Given the description of an element on the screen output the (x, y) to click on. 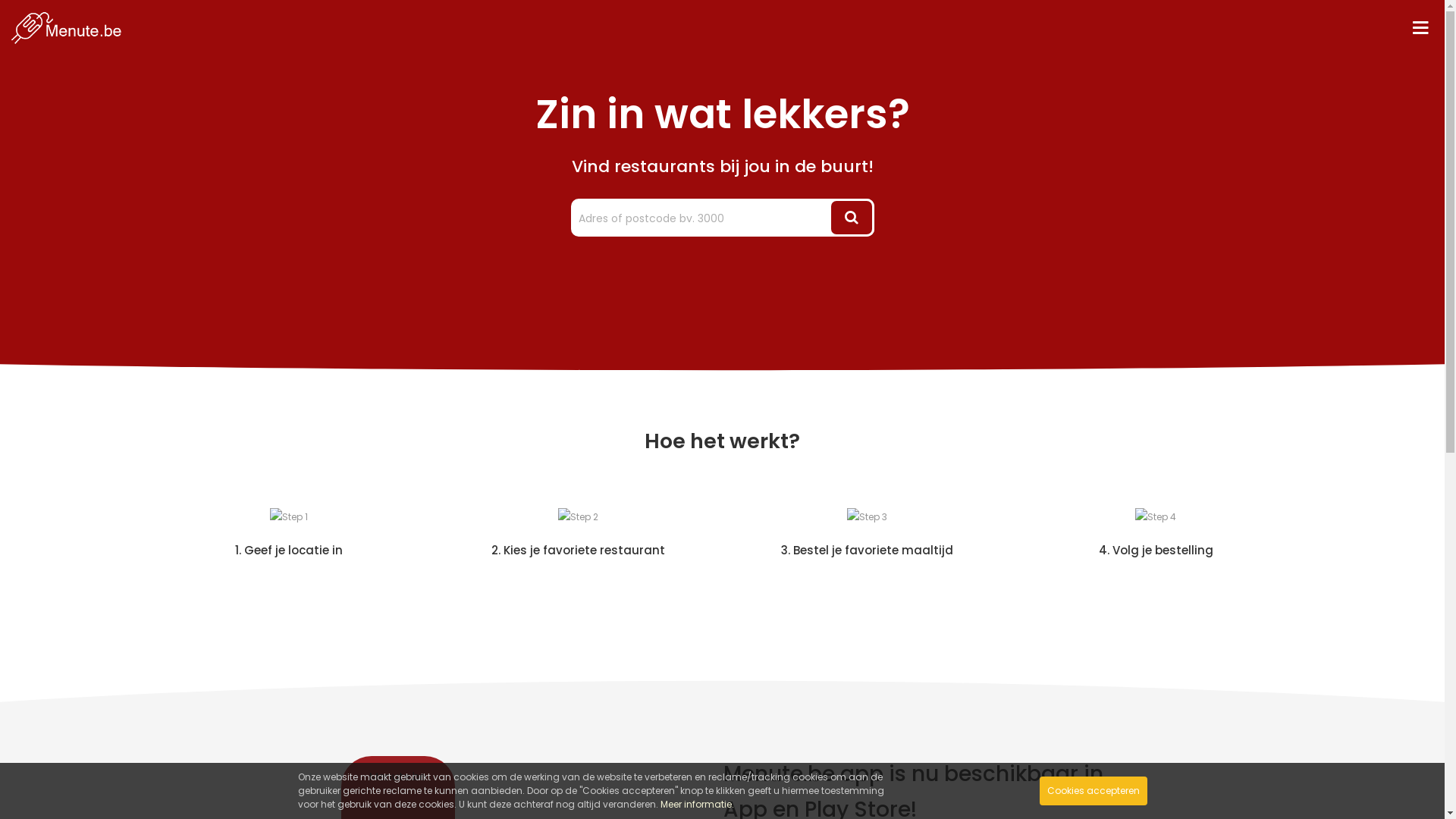
Step 2 Element type: hover (578, 517)
Step 3 Element type: hover (866, 517)
Meer informatie. Element type: text (696, 803)
Cookies accepteren Element type: text (1092, 790)
Step 1 Element type: hover (288, 517)
Step 4 Element type: hover (1155, 517)
